Given the description of an element on the screen output the (x, y) to click on. 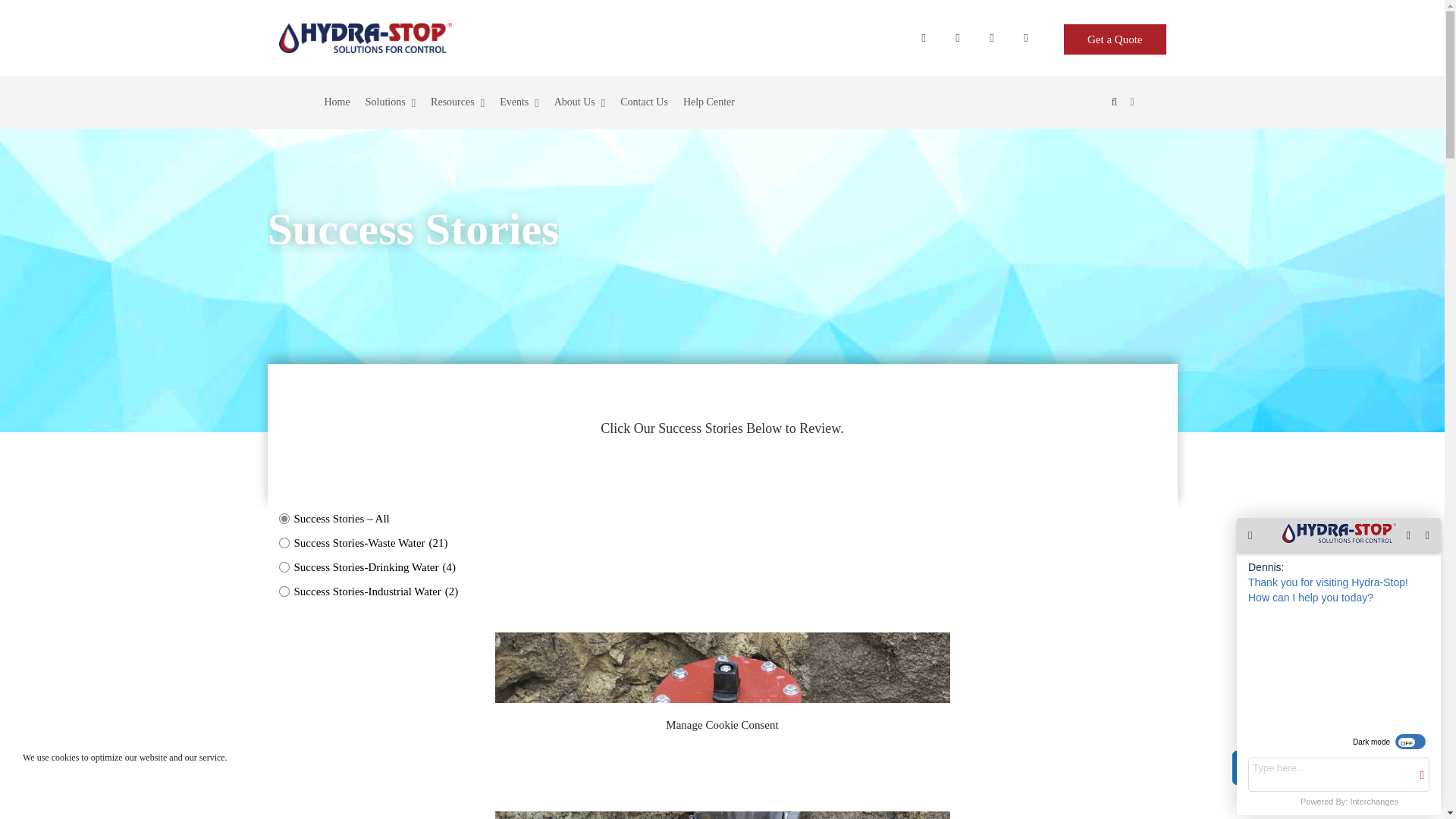
Accept (1326, 767)
